Given the description of an element on the screen output the (x, y) to click on. 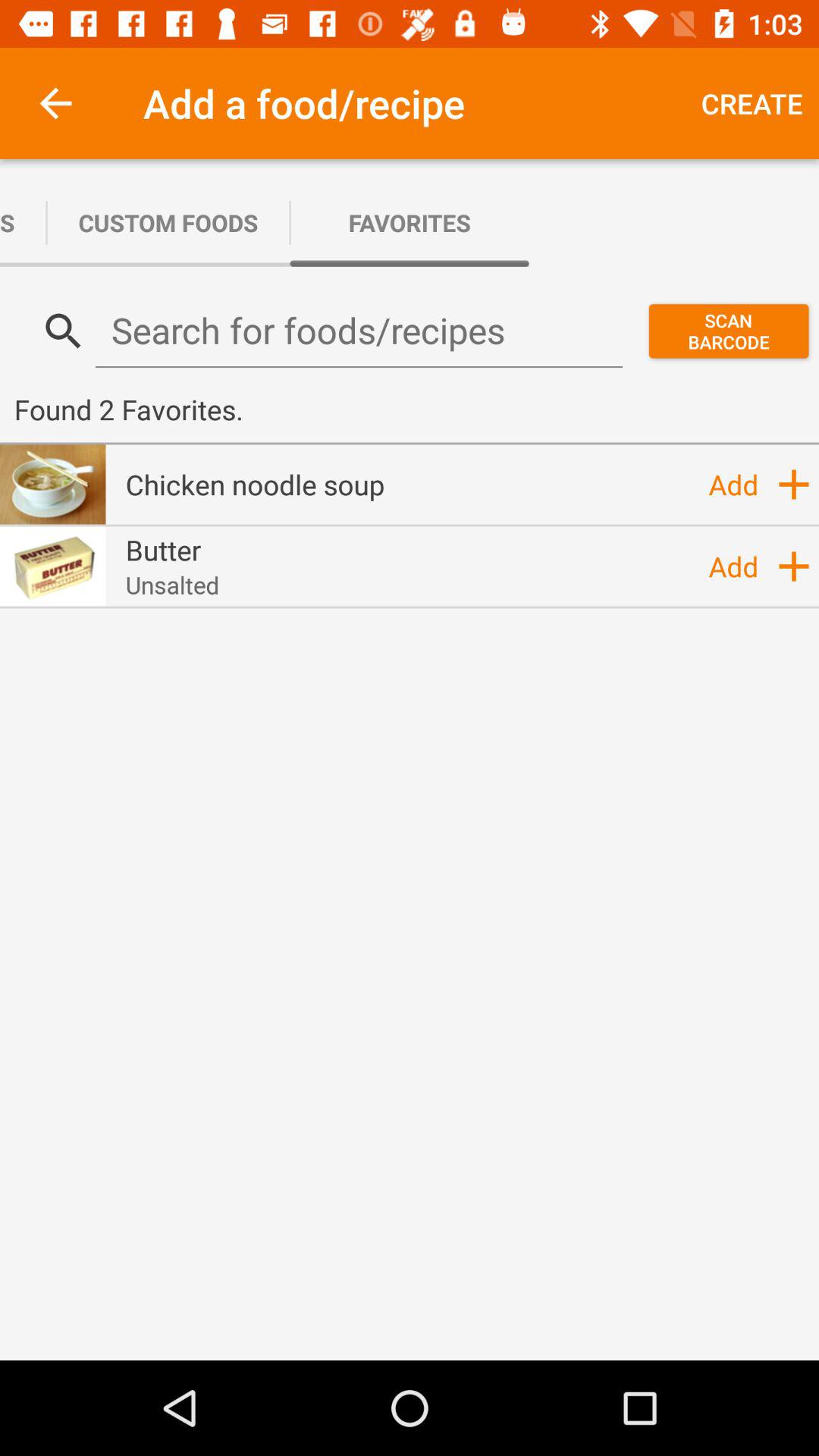
tap the icon to the right of custom recipes (168, 222)
